Given the description of an element on the screen output the (x, y) to click on. 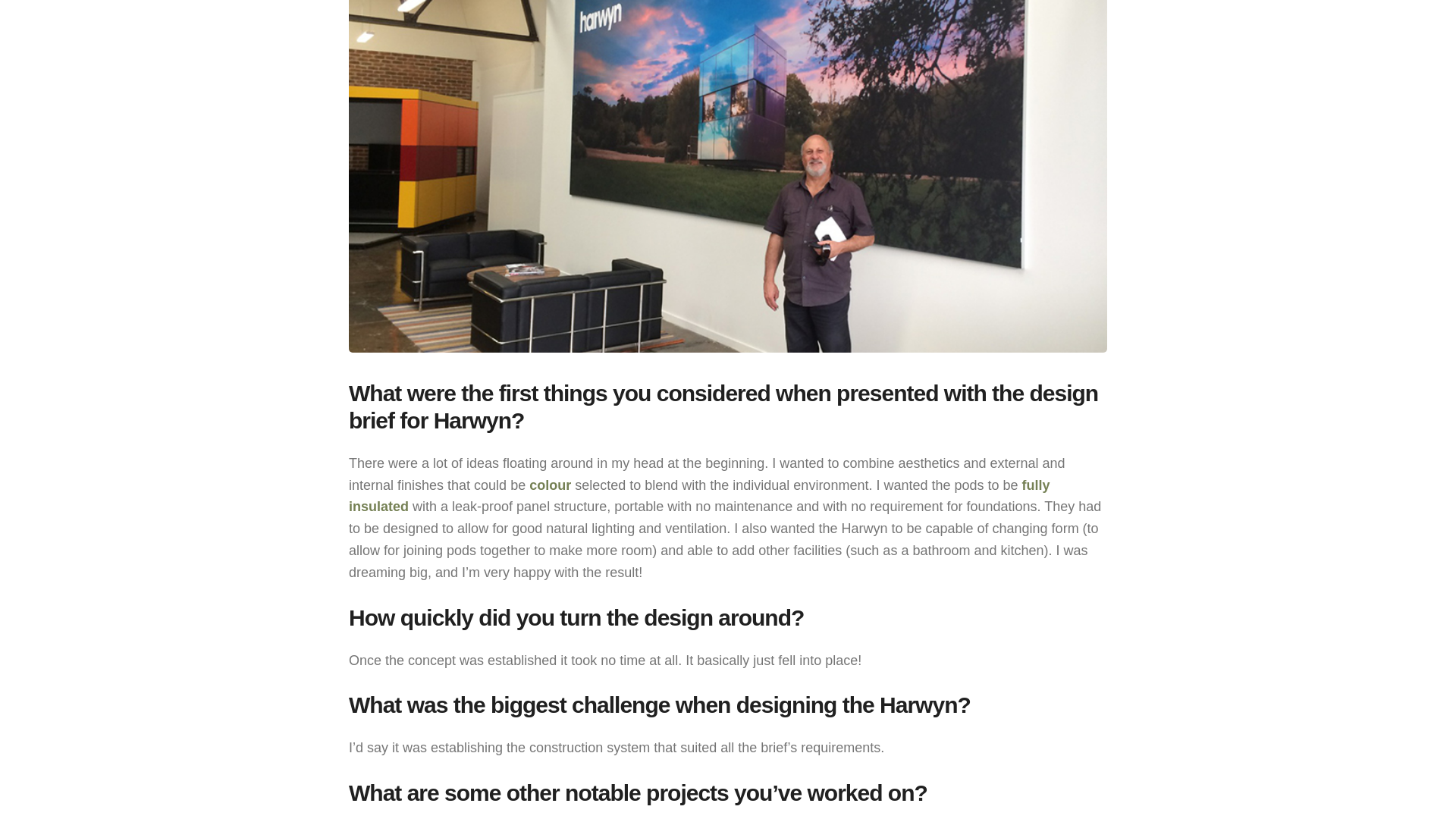
fully insulated (699, 496)
colour (549, 485)
Learn more about Harwyn features (699, 496)
View the Harwyn colour range (549, 485)
